Given the description of an element on the screen output the (x, y) to click on. 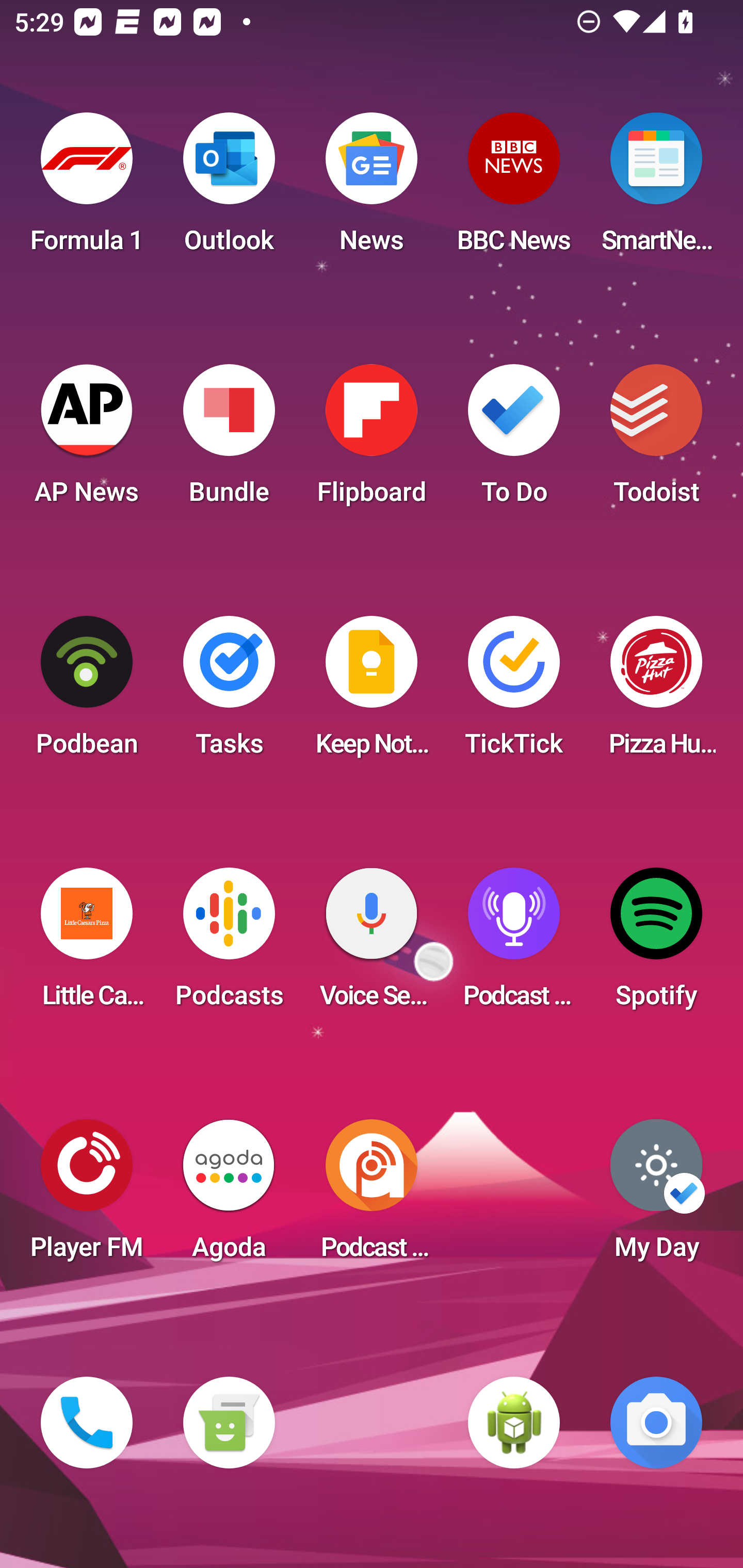
Formula 1 (86, 188)
Outlook (228, 188)
News (371, 188)
BBC News (513, 188)
SmartNews (656, 188)
AP News (86, 440)
Bundle (228, 440)
Flipboard (371, 440)
To Do (513, 440)
Todoist (656, 440)
Podbean (86, 692)
Tasks (228, 692)
Keep Notes (371, 692)
TickTick (513, 692)
Pizza Hut HK & Macau (656, 692)
Little Caesars Pizza (86, 943)
Podcasts (228, 943)
Voice Search (371, 943)
Podcast Player (513, 943)
Spotify (656, 943)
Player FM (86, 1195)
Agoda (228, 1195)
Podcast Addict (371, 1195)
My Day (656, 1195)
Phone (86, 1422)
Messaging (228, 1422)
WebView Browser Tester (513, 1422)
Camera (656, 1422)
